Given the description of an element on the screen output the (x, y) to click on. 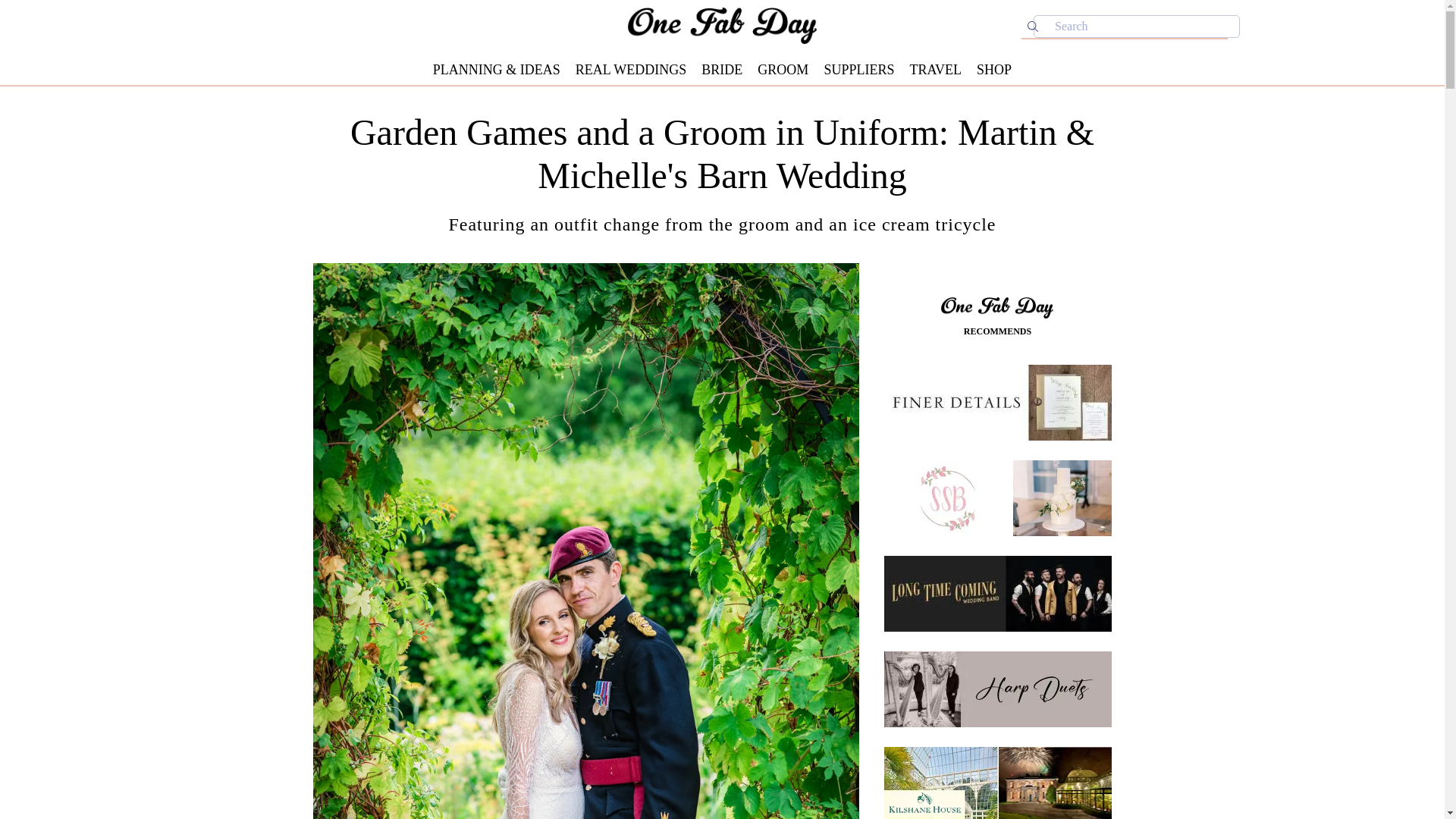
REAL WEDDINGS (630, 70)
Submit the search query (1033, 26)
